Given the description of an element on the screen output the (x, y) to click on. 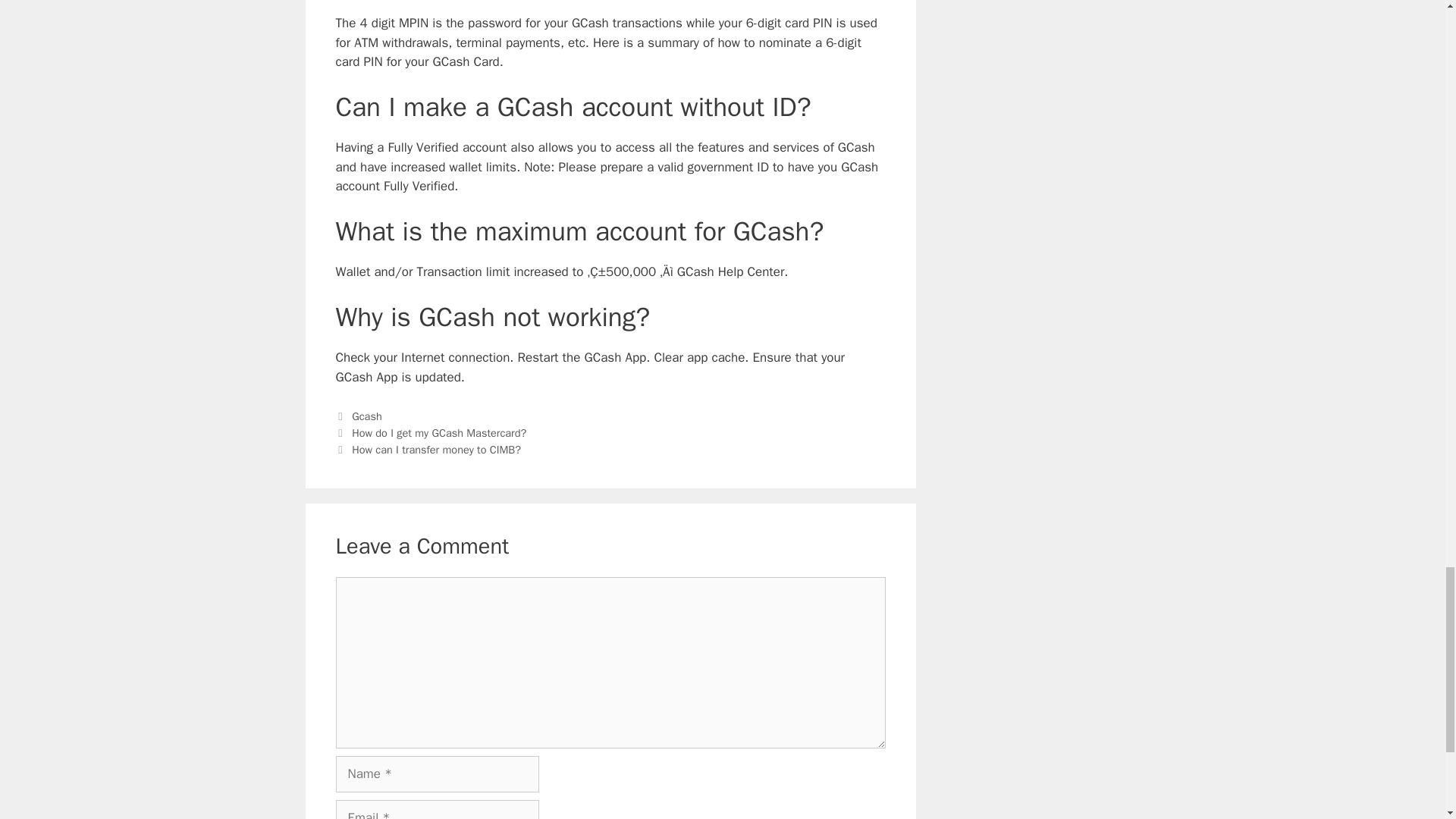
How can I transfer money to CIMB? (436, 449)
Gcash (366, 416)
How do I get my GCash Mastercard? (438, 432)
